Given the description of an element on the screen output the (x, y) to click on. 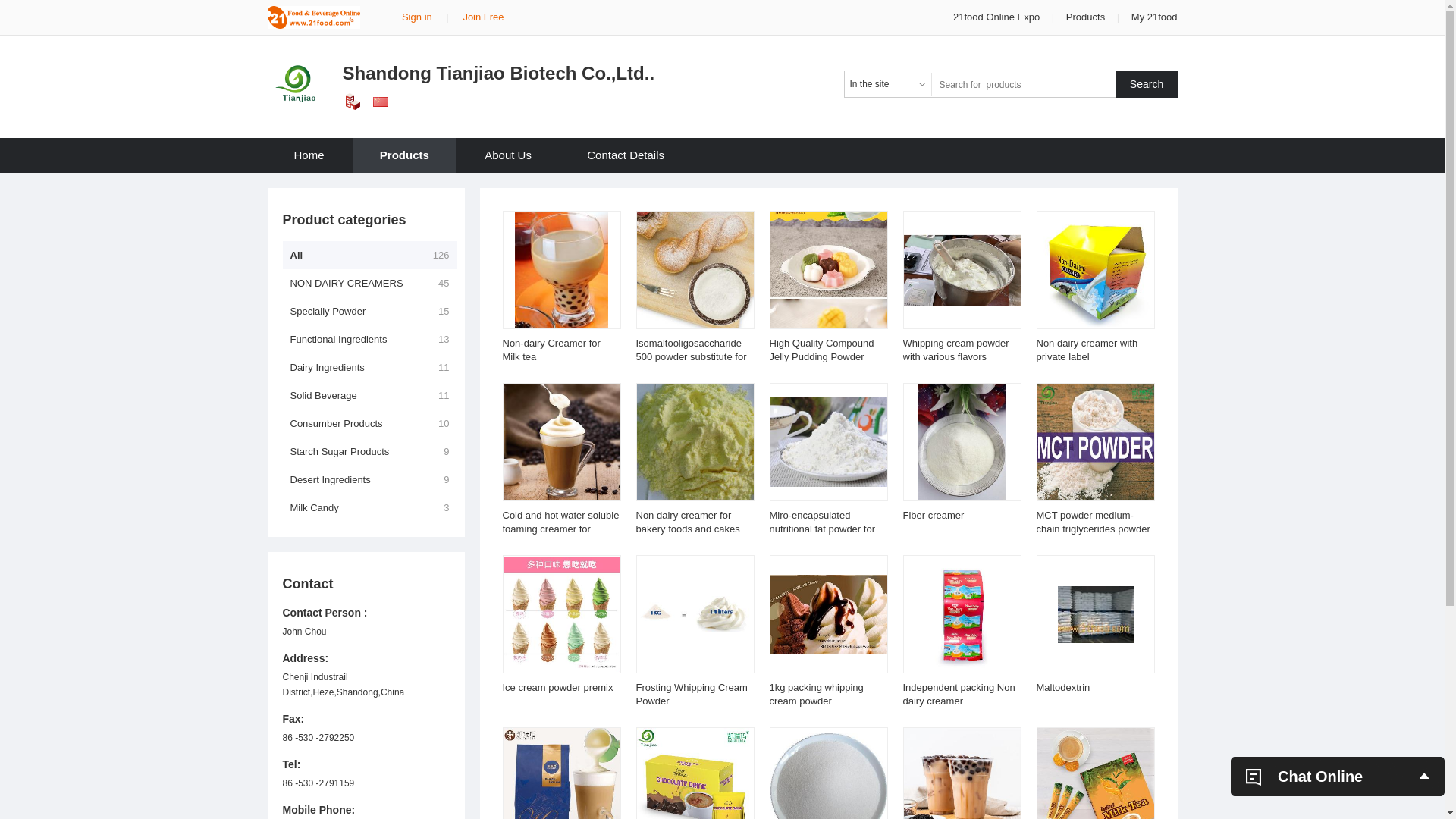
Independent packing Non dairy creamer Element type: text (958, 693)
Ice cream powder premix Element type: text (557, 687)
Join Free Element type: text (482, 16)
Cold and hot water soluble foaming creamer for cappuccino Element type: text (560, 528)
Whipping cream powder with various flavors Element type: text (955, 349)
Isomaltooligosaccharide 500 powder substitute for sugar Element type: text (690, 356)
MCT powder medium-chain triglycerides powder 50% 60% 70% Element type: text (1092, 528)
1kg packing whipping cream powder Element type: text (815, 693)
Non dairy creamer with private label Element type: text (1086, 349)
Non-dairy Creamer for Milk tea Element type: text (550, 349)
Frosting Whipping Cream Powder Element type: text (690, 693)
My 21food Element type: text (1154, 16)
Products Element type: text (1085, 16)
High Quality Compound Jelly Pudding Powder Element type: text (820, 349)
Contact Details Element type: text (625, 155)
About Us Element type: text (508, 155)
Search Element type: text (1146, 83)
Maltodextrin Element type: text (1062, 687)
Products Element type: text (404, 155)
Non dairy creamer for bakery foods and cakes Element type: text (687, 521)
Fiber creamer Element type: text (932, 514)
Sign in Element type: text (416, 16)
Home Element type: text (308, 155)
21food Online Expo Element type: text (997, 16)
